Given the description of an element on the screen output the (x, y) to click on. 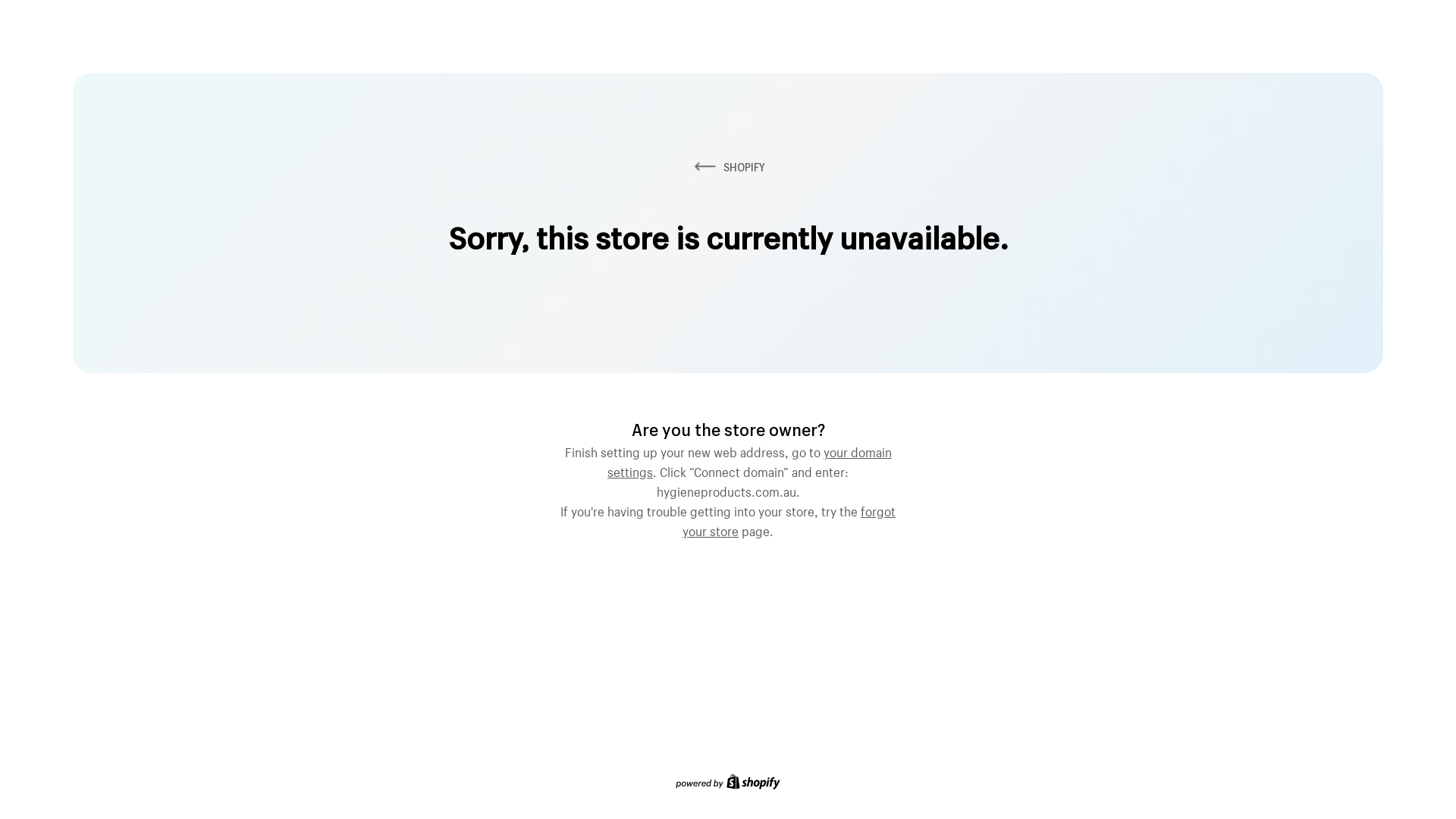
your domain settings Element type: text (749, 460)
SHOPIFY Element type: text (727, 167)
forgot your store Element type: text (788, 519)
